Given the description of an element on the screen output the (x, y) to click on. 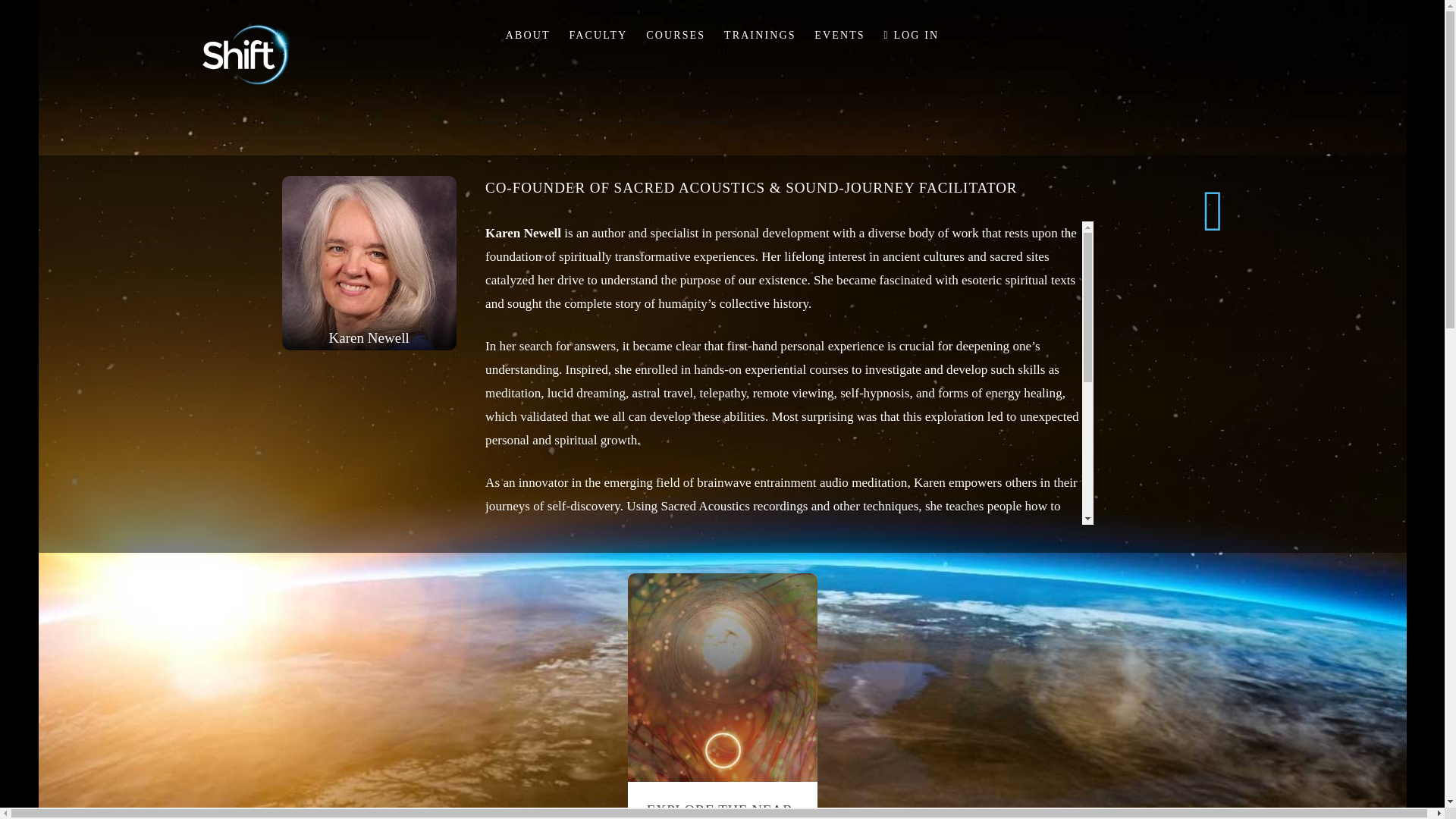
COURSES (676, 34)
TRAININGS (759, 34)
FACULTY (597, 34)
ABOUT (527, 34)
EVENTS (839, 34)
